Given the description of an element on the screen output the (x, y) to click on. 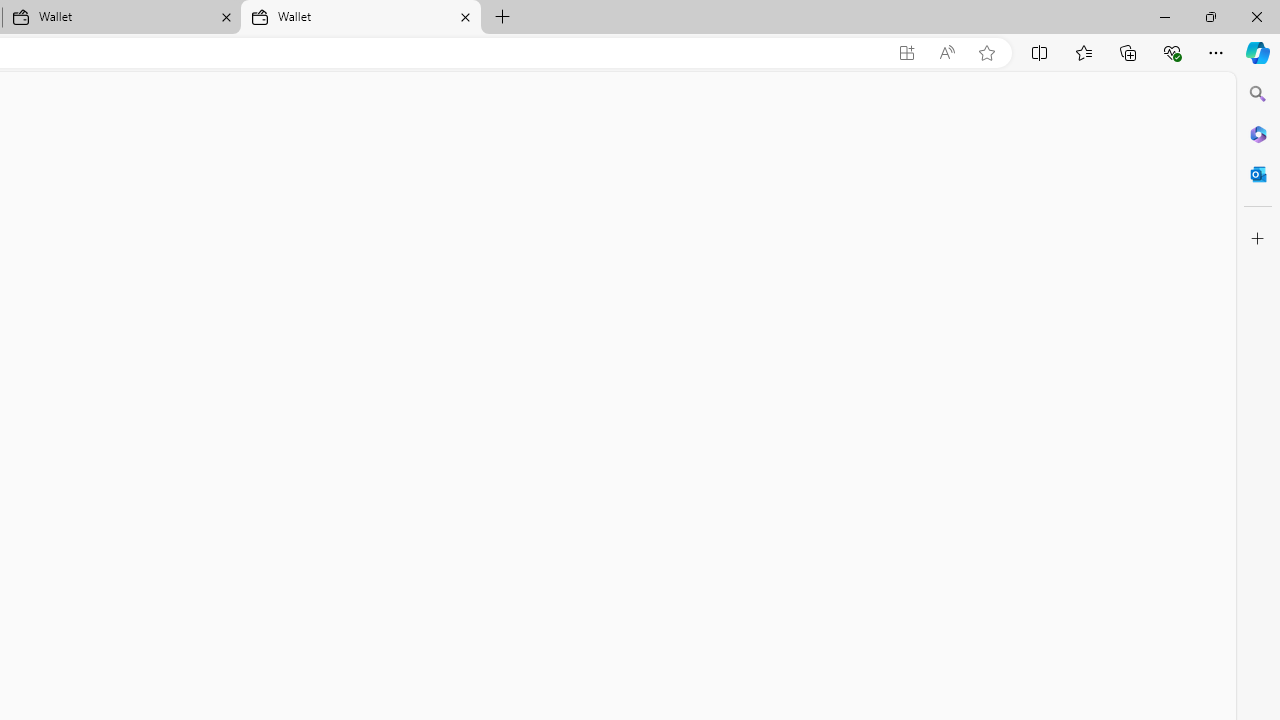
Wallet (360, 17)
App available. Install Microsoft Wallet (906, 53)
